Given the description of an element on the screen output the (x, y) to click on. 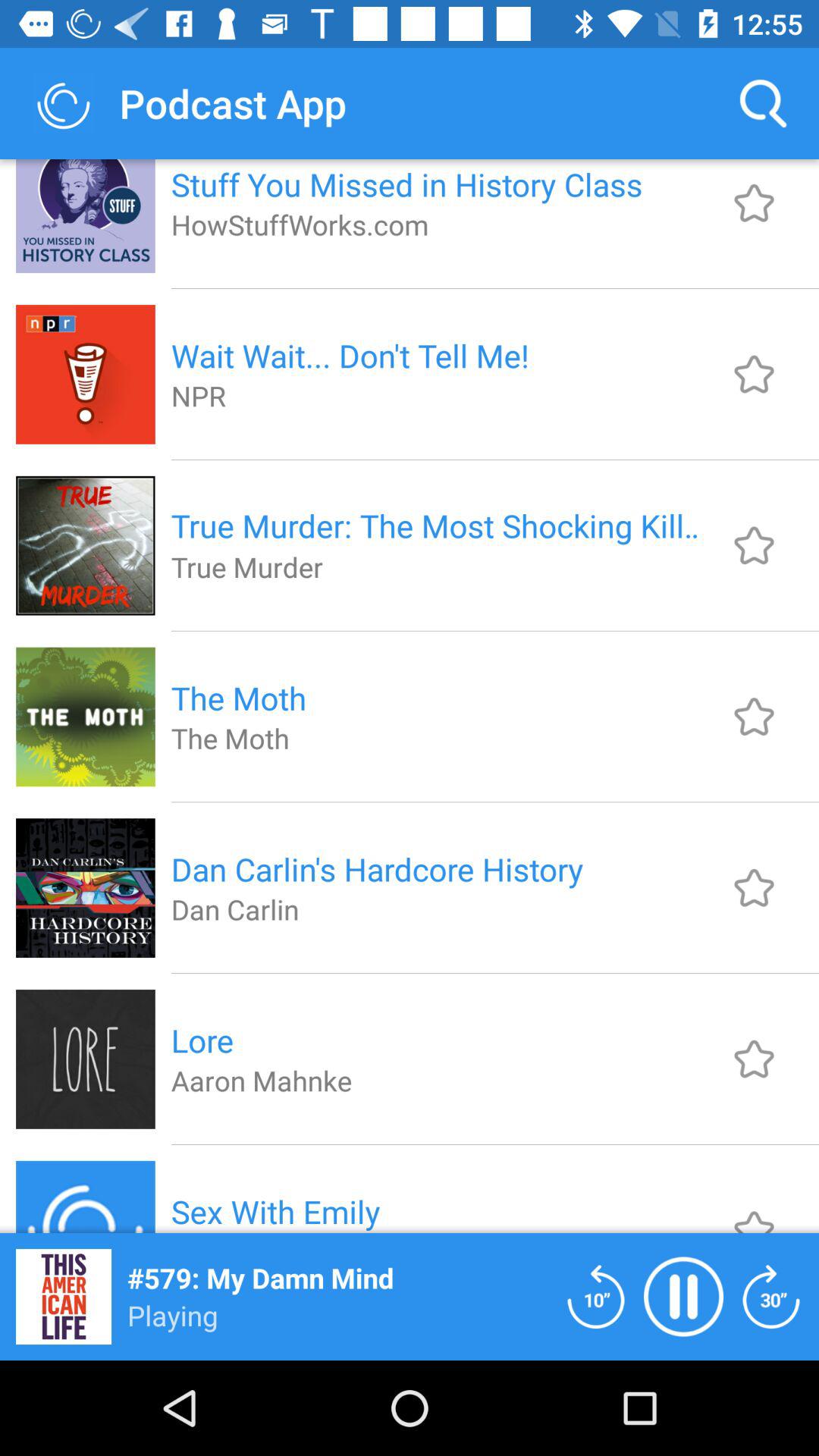
assigning favourite podcast (754, 887)
